Given the description of an element on the screen output the (x, y) to click on. 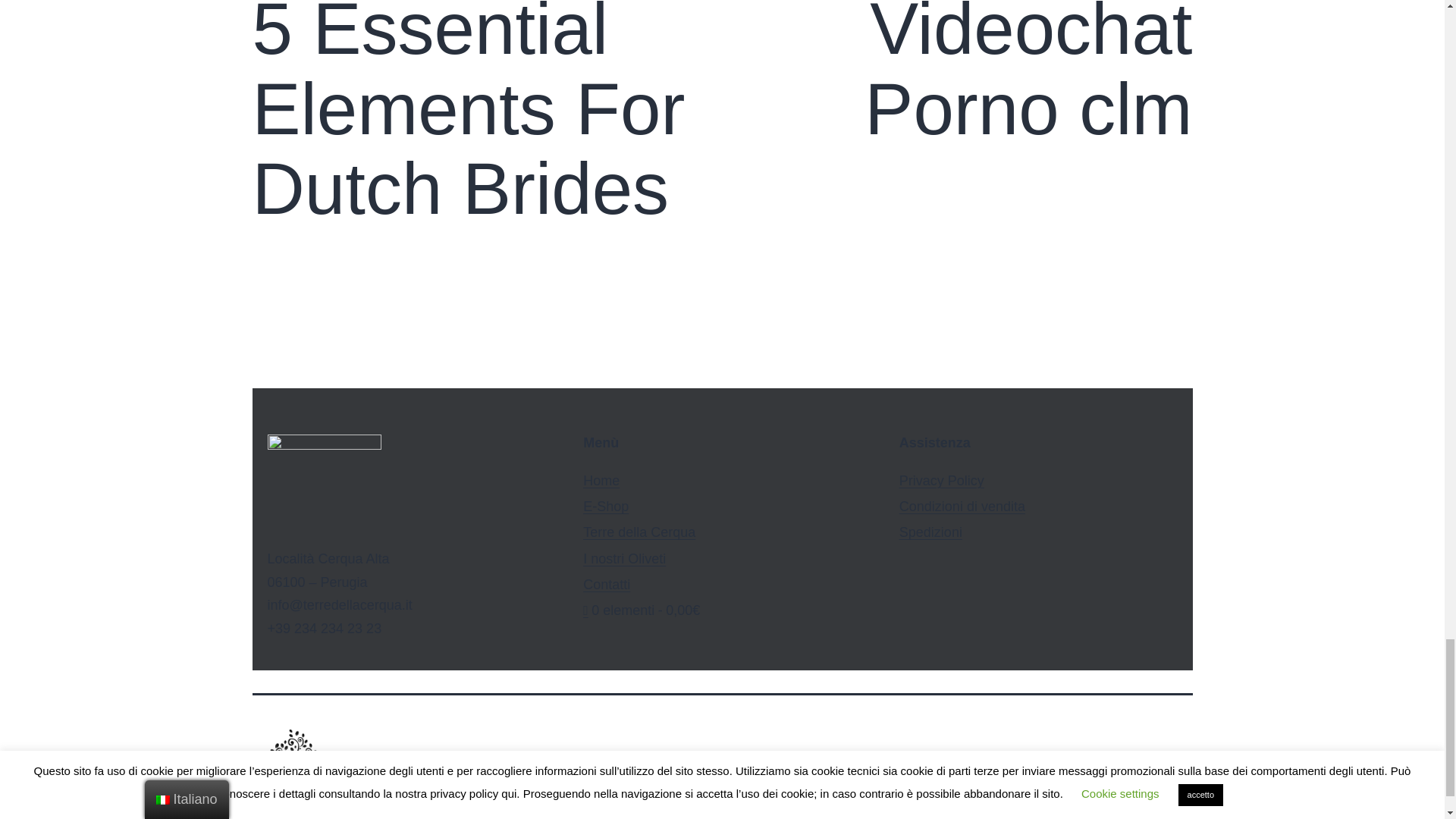
Spedizioni (930, 531)
WordPress (1155, 767)
Condizioni di vendita (962, 506)
Privacy Policy (941, 480)
I nostri Oliveti (624, 558)
Privacy Policy (943, 767)
Terre della Cerqua (482, 114)
E-Shop (639, 531)
Contatti (605, 506)
Home (606, 584)
Vai al negozio (960, 74)
